Given the description of an element on the screen output the (x, y) to click on. 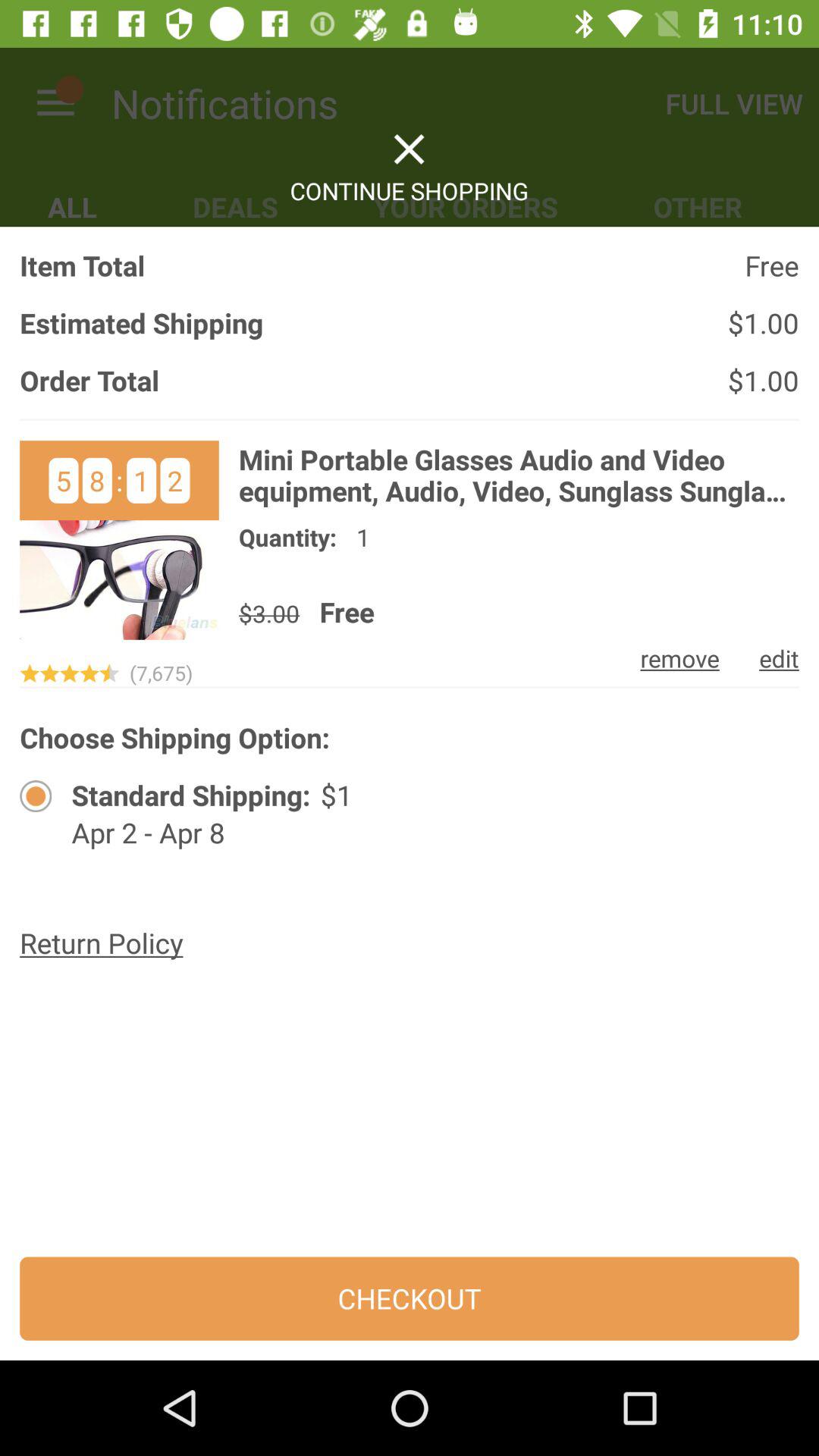
a photo of glasses and how many have been given away (118, 539)
